Given the description of an element on the screen output the (x, y) to click on. 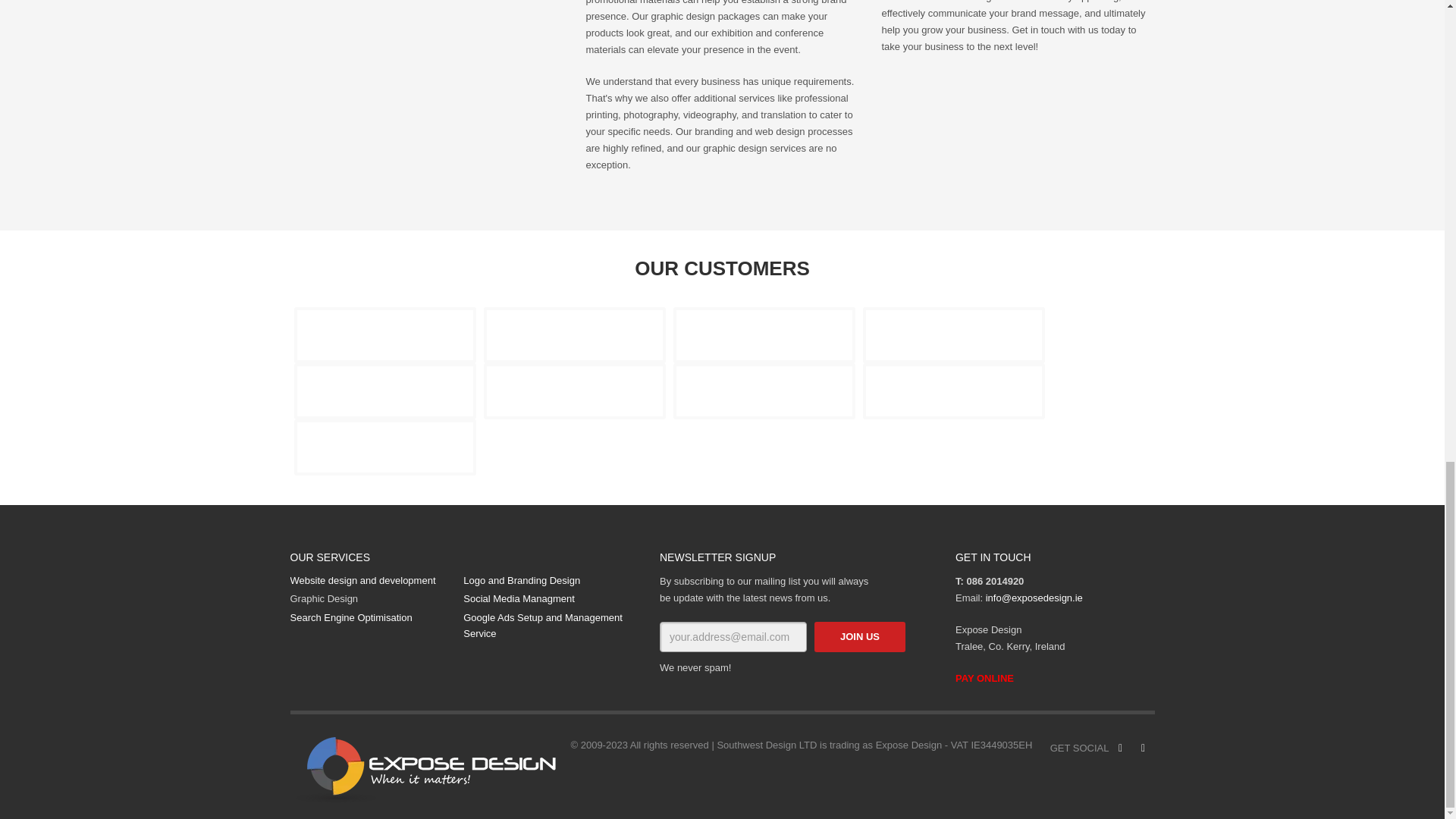
JOIN US (859, 636)
